Given the description of an element on the screen output the (x, y) to click on. 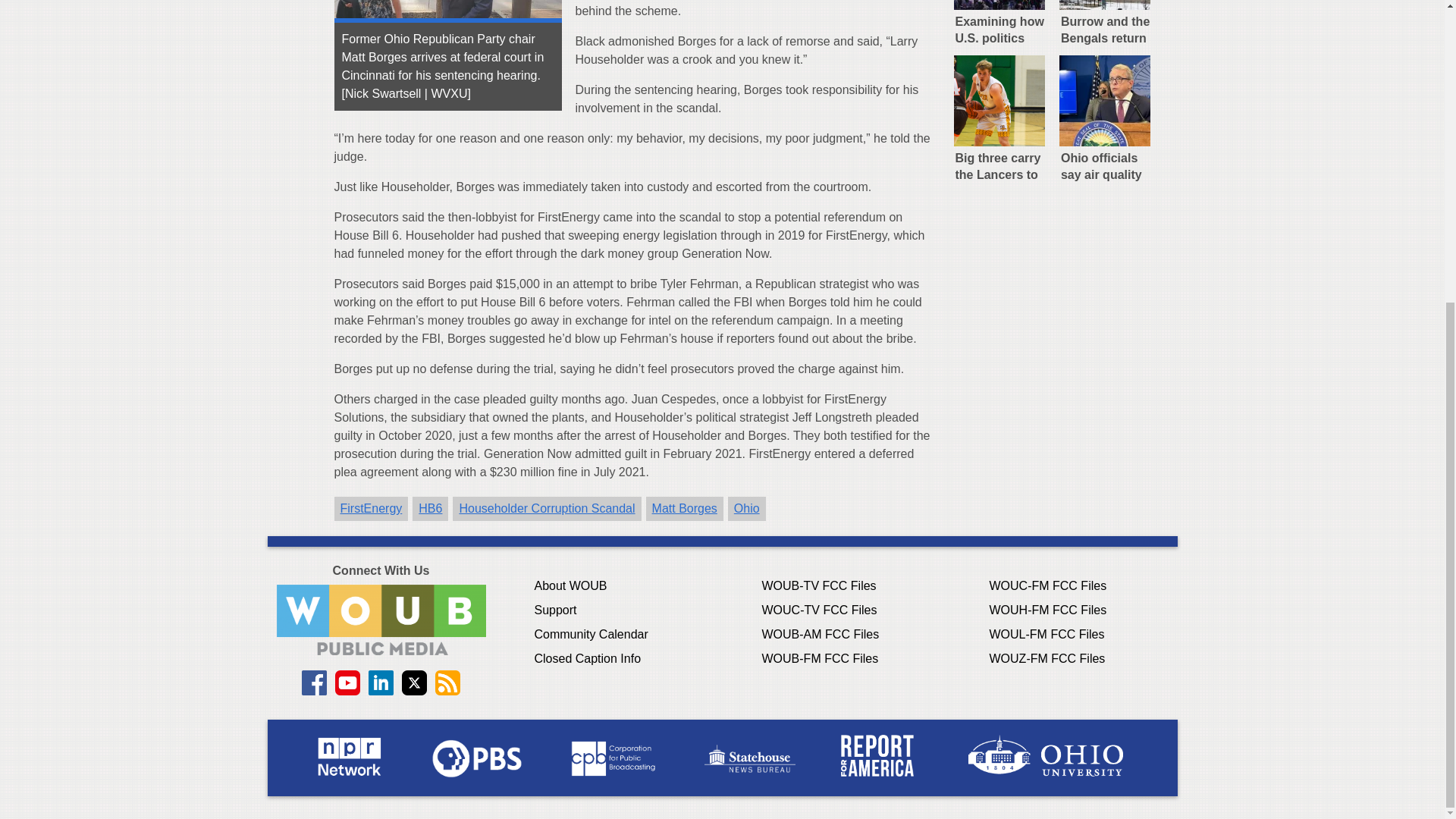
Contact WOUB (380, 619)
